Given the description of an element on the screen output the (x, y) to click on. 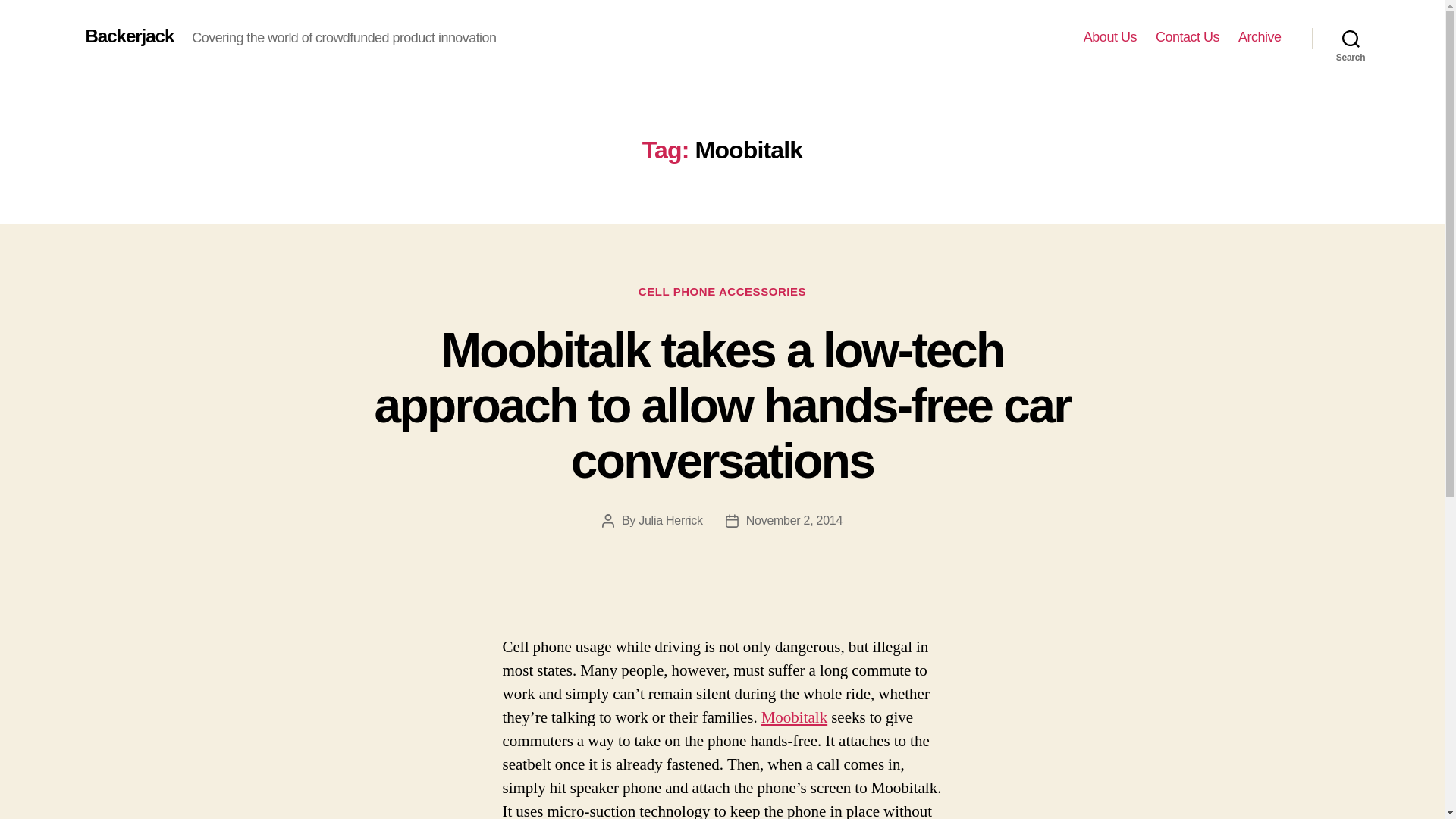
Backerjack (128, 36)
November 2, 2014 (794, 520)
Julia Herrick (671, 520)
Contact Us (1188, 37)
Archive (1260, 37)
CELL PHONE ACCESSORIES (722, 292)
Moobitalk (794, 717)
Search (1350, 37)
About Us (1110, 37)
